Given the description of an element on the screen output the (x, y) to click on. 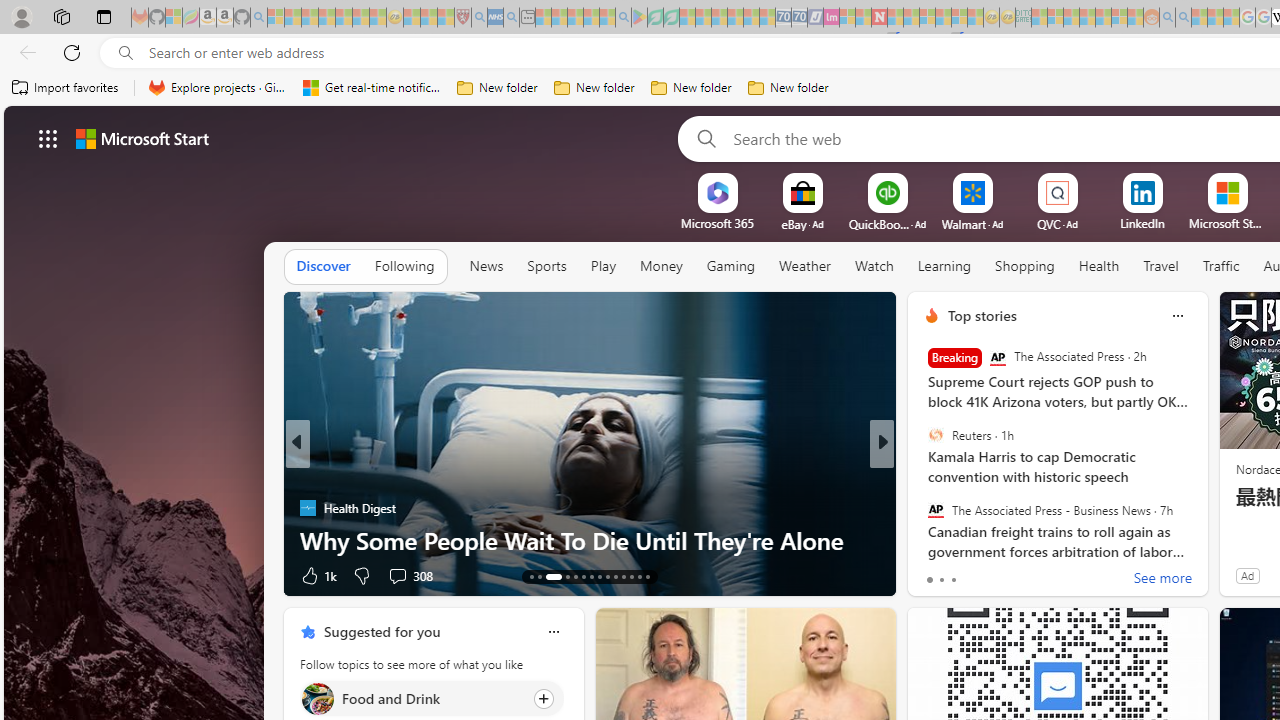
Shopping (1025, 267)
Click to follow topic Food and Drink (431, 698)
AutomationID: tab-16 (567, 576)
AutomationID: tab-25 (638, 576)
Eggs All Ways (923, 507)
Food and Drink (317, 697)
Weather (804, 267)
45 Like (934, 574)
AutomationID: tab-15 (553, 576)
AutomationID: tab-24 (631, 576)
